Given the description of an element on the screen output the (x, y) to click on. 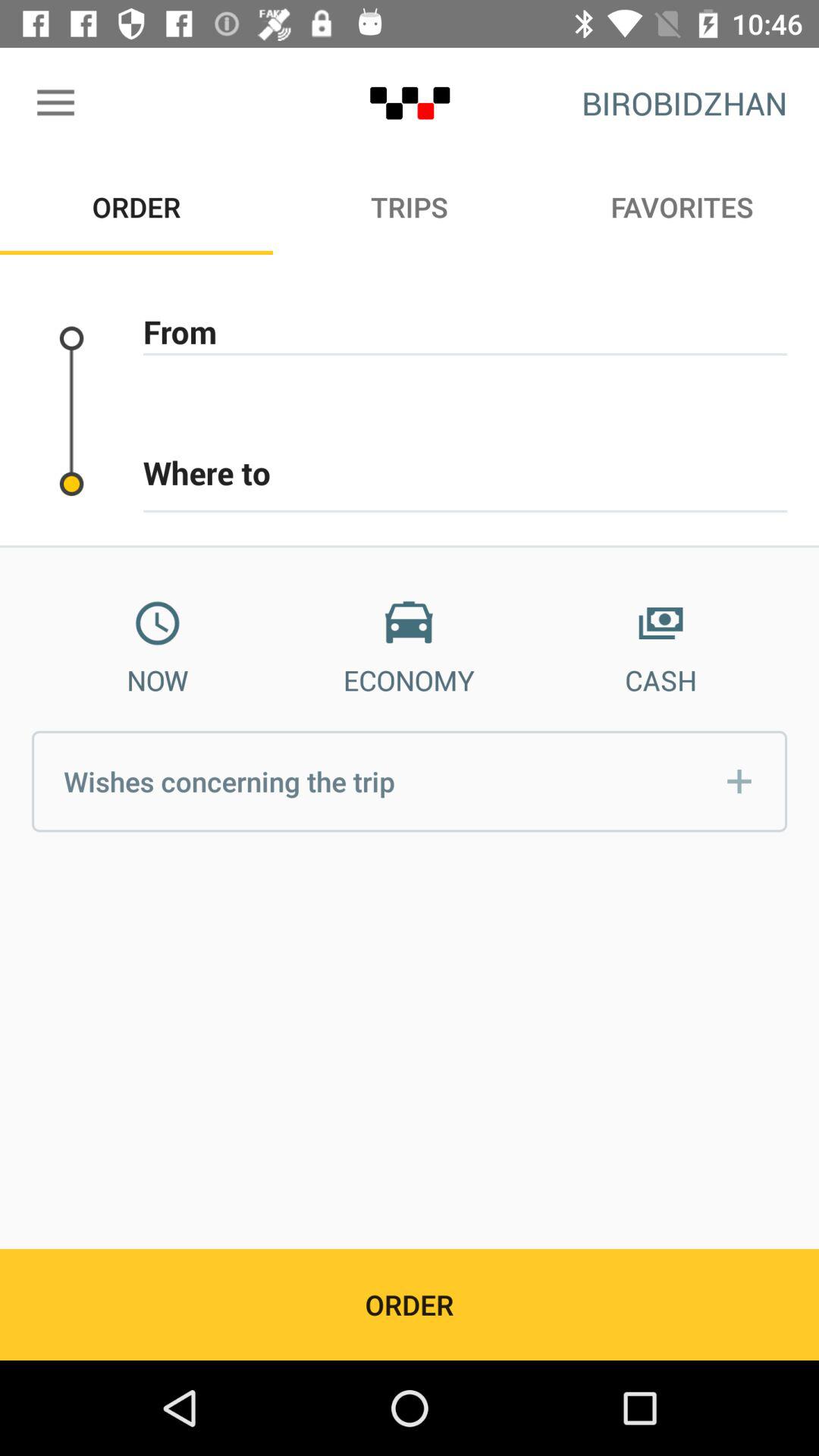
select the icon above the favorites icon (684, 102)
